Given the description of an element on the screen output the (x, y) to click on. 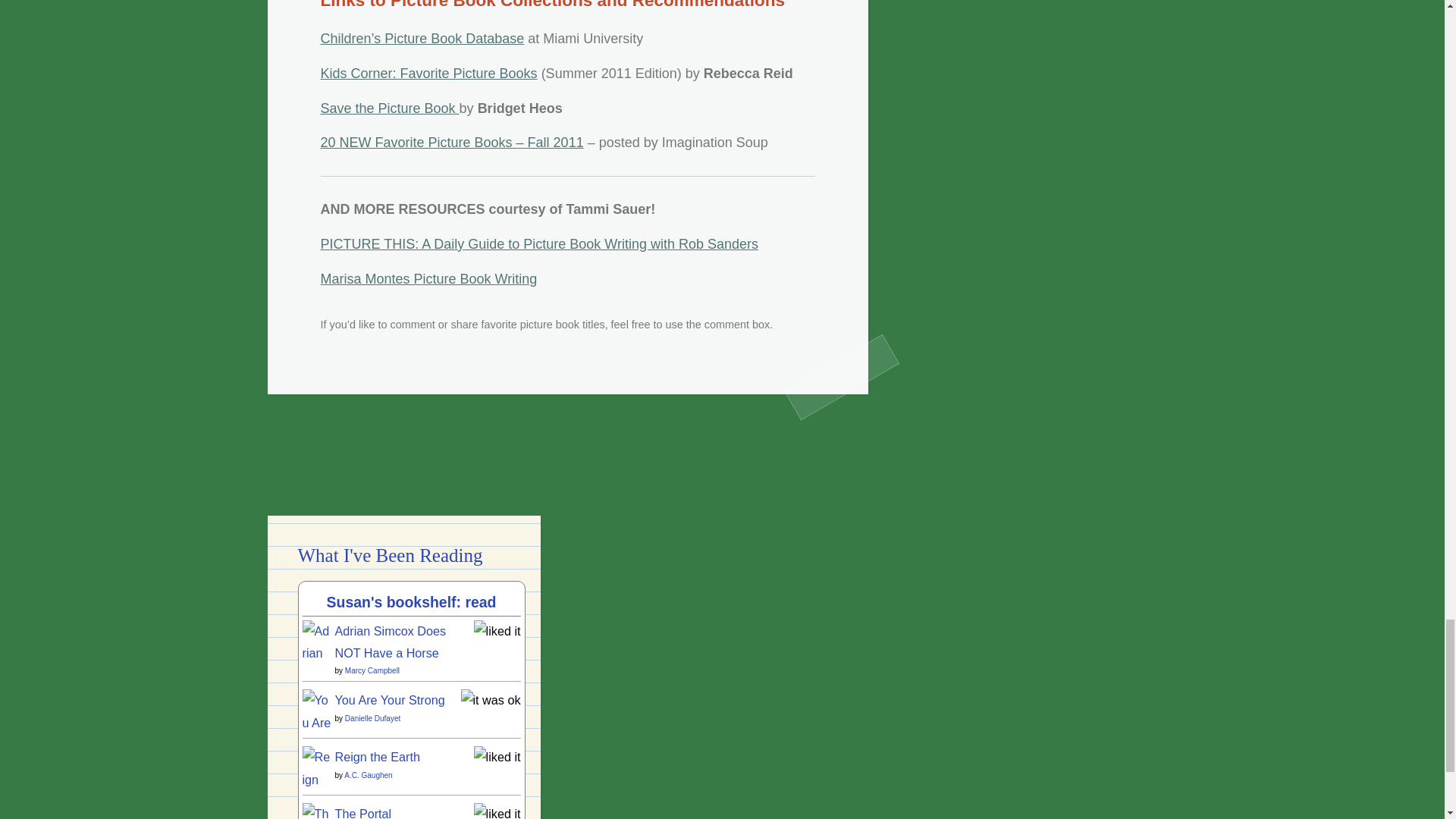
liked it (497, 756)
it was ok (491, 699)
You Are Your Strong (316, 788)
liked it (497, 631)
